Given the description of an element on the screen output the (x, y) to click on. 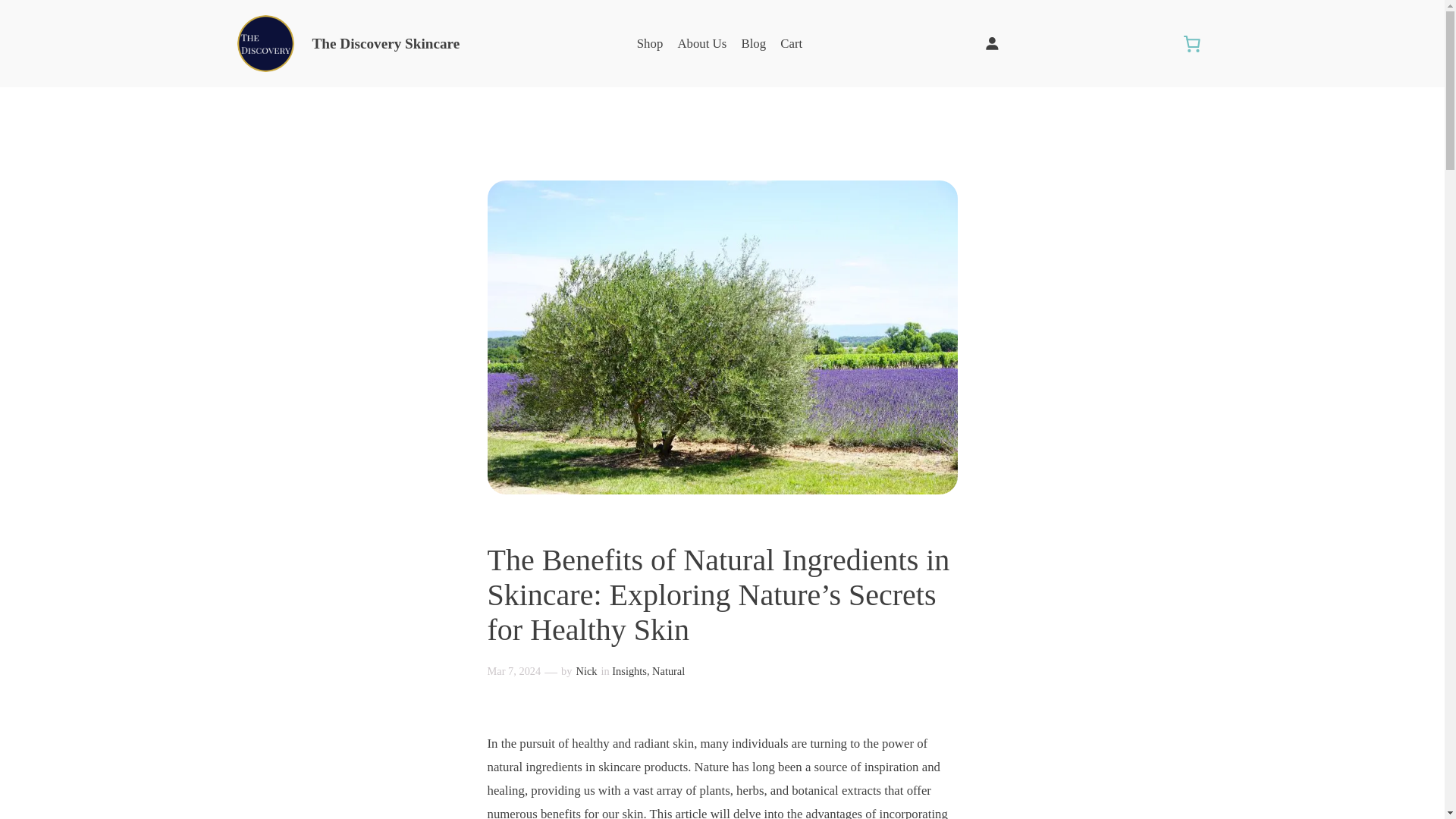
Mar 7, 2024 (513, 671)
Shop (650, 43)
About Us (701, 43)
Natural (668, 671)
Cart (791, 43)
Insights (628, 671)
Nick (586, 671)
Blog (753, 43)
The Discovery Skincare (386, 43)
